Given the description of an element on the screen output the (x, y) to click on. 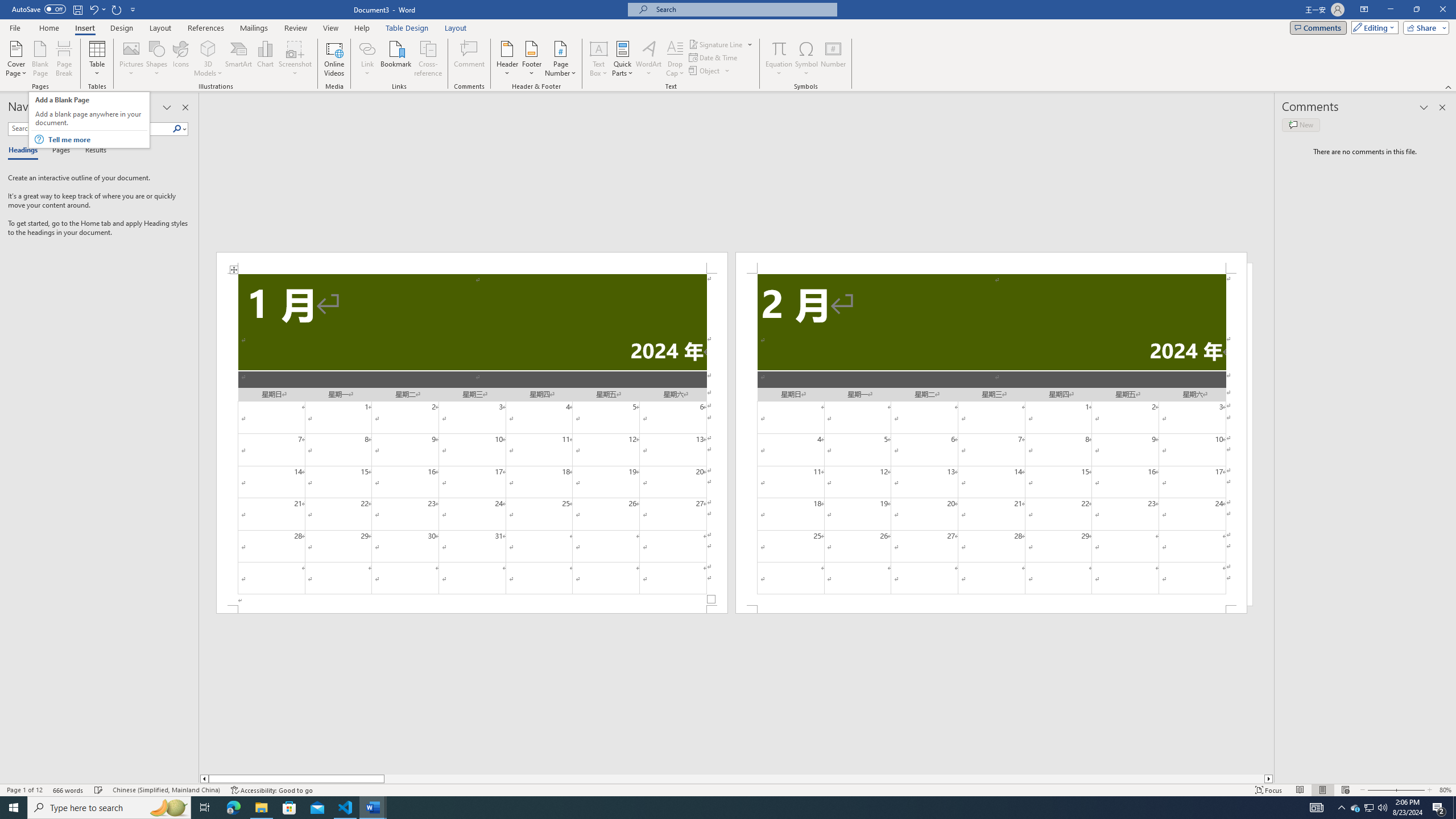
3D Models (208, 48)
Comment (469, 58)
Signature Line (721, 44)
Object... (709, 69)
Repeat Doc Close (117, 9)
Undo Increase Indent (96, 9)
Icons (180, 58)
Cross-reference... (428, 58)
Link (367, 58)
Shapes (156, 58)
